Given the description of an element on the screen output the (x, y) to click on. 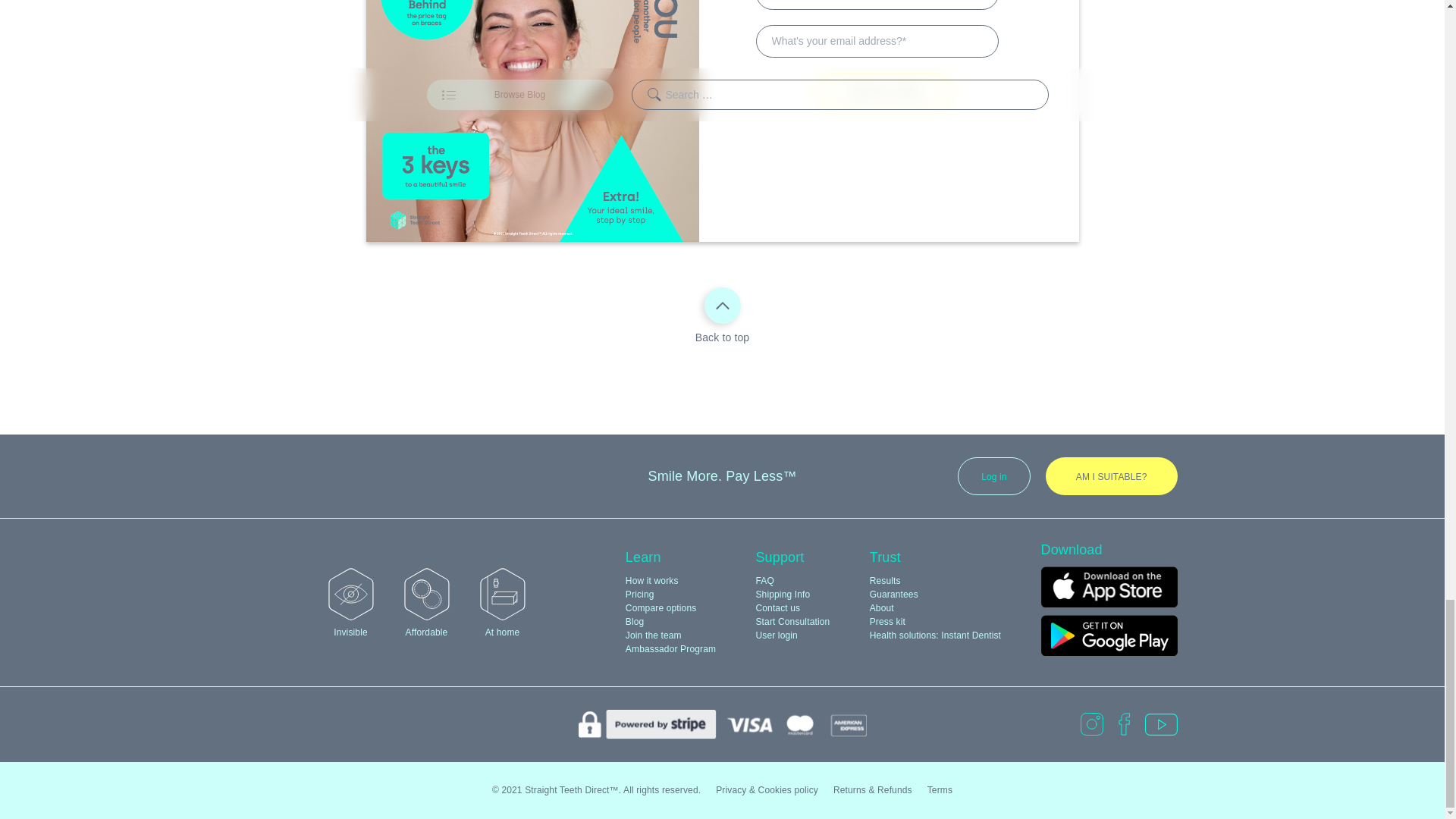
Send my guide (884, 91)
